Given the description of an element on the screen output the (x, y) to click on. 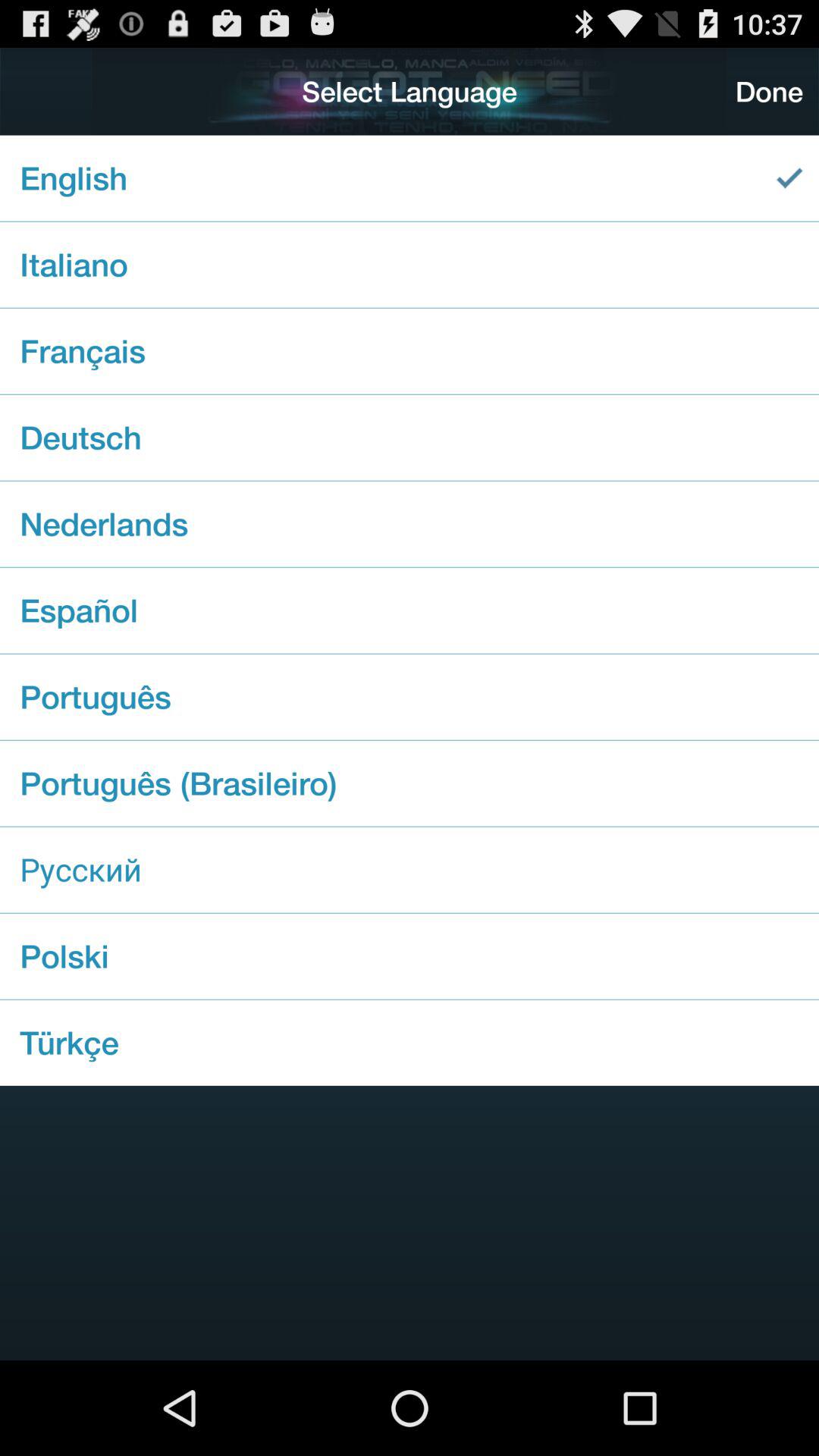
launch checkbox below the english checkbox (409, 264)
